Given the description of an element on the screen output the (x, y) to click on. 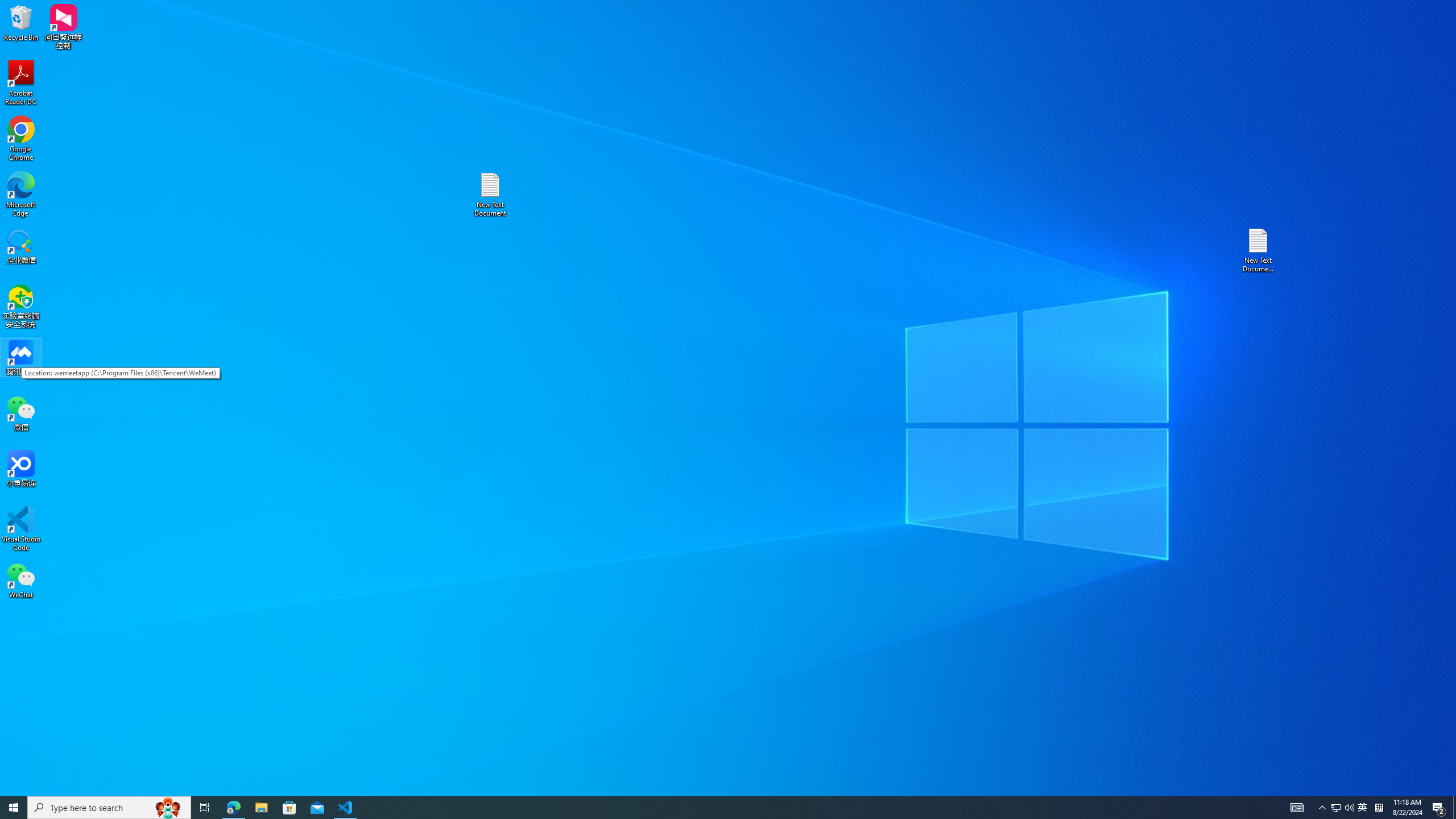
Type here to search (108, 807)
Tray Input Indicator - Chinese (Simplified, China) (1378, 807)
Visual Studio Code (21, 528)
File Explorer (261, 807)
Microsoft Store (289, 807)
Start (13, 807)
Search highlights icon opens search home window (167, 807)
Task View (204, 807)
Google Chrome (21, 138)
User Promoted Notification Area (1342, 807)
New Text Document (2) (1258, 250)
New Text Document (489, 194)
Microsoft Edge (21, 194)
